Given the description of an element on the screen output the (x, y) to click on. 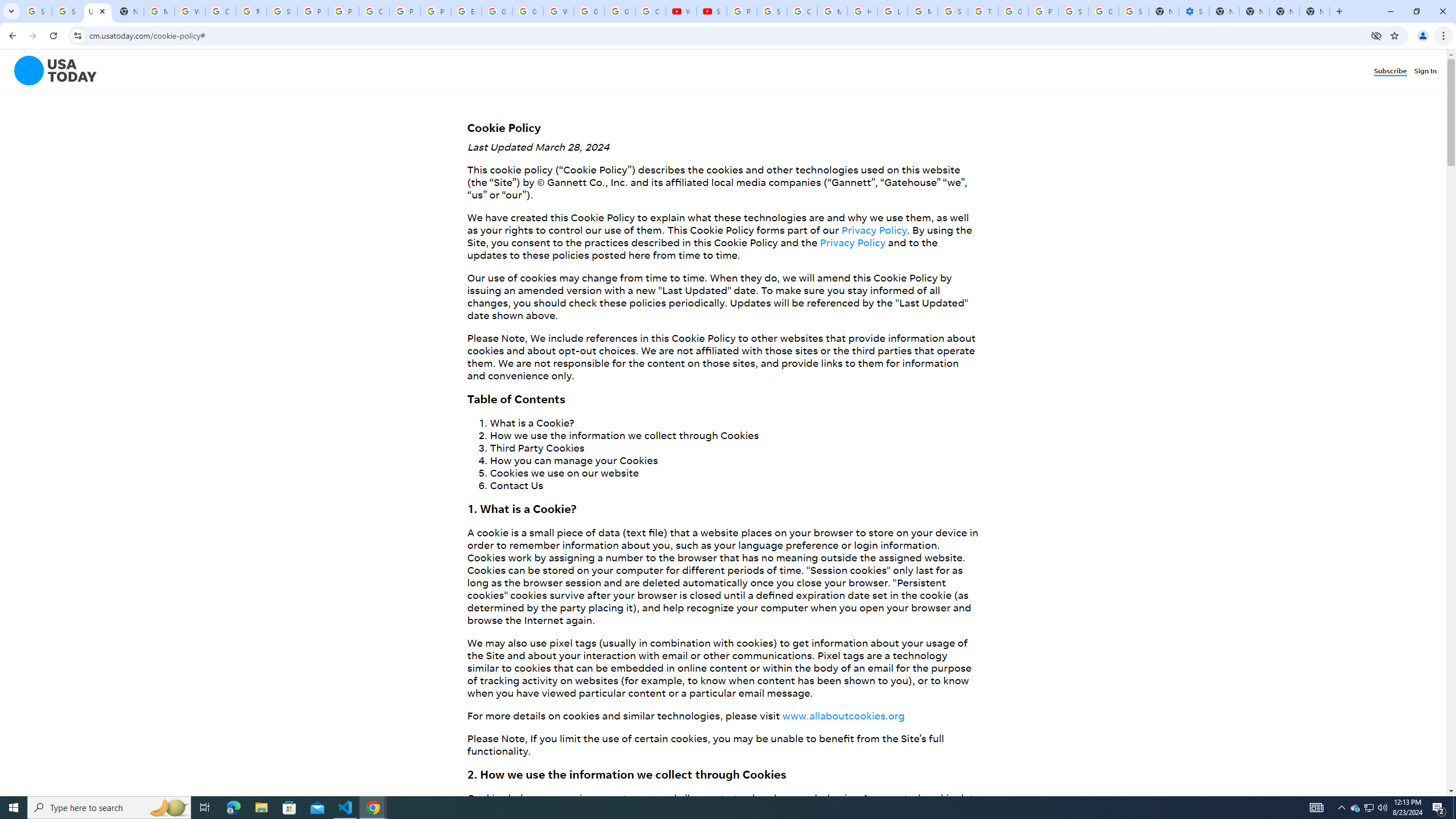
Google Account (619, 11)
Sign in - Google Accounts (282, 11)
How you can manage your Cookies (573, 459)
Sign In (1427, 70)
Contact Us (516, 485)
www.allaboutcookies.org (842, 715)
